Given the description of an element on the screen output the (x, y) to click on. 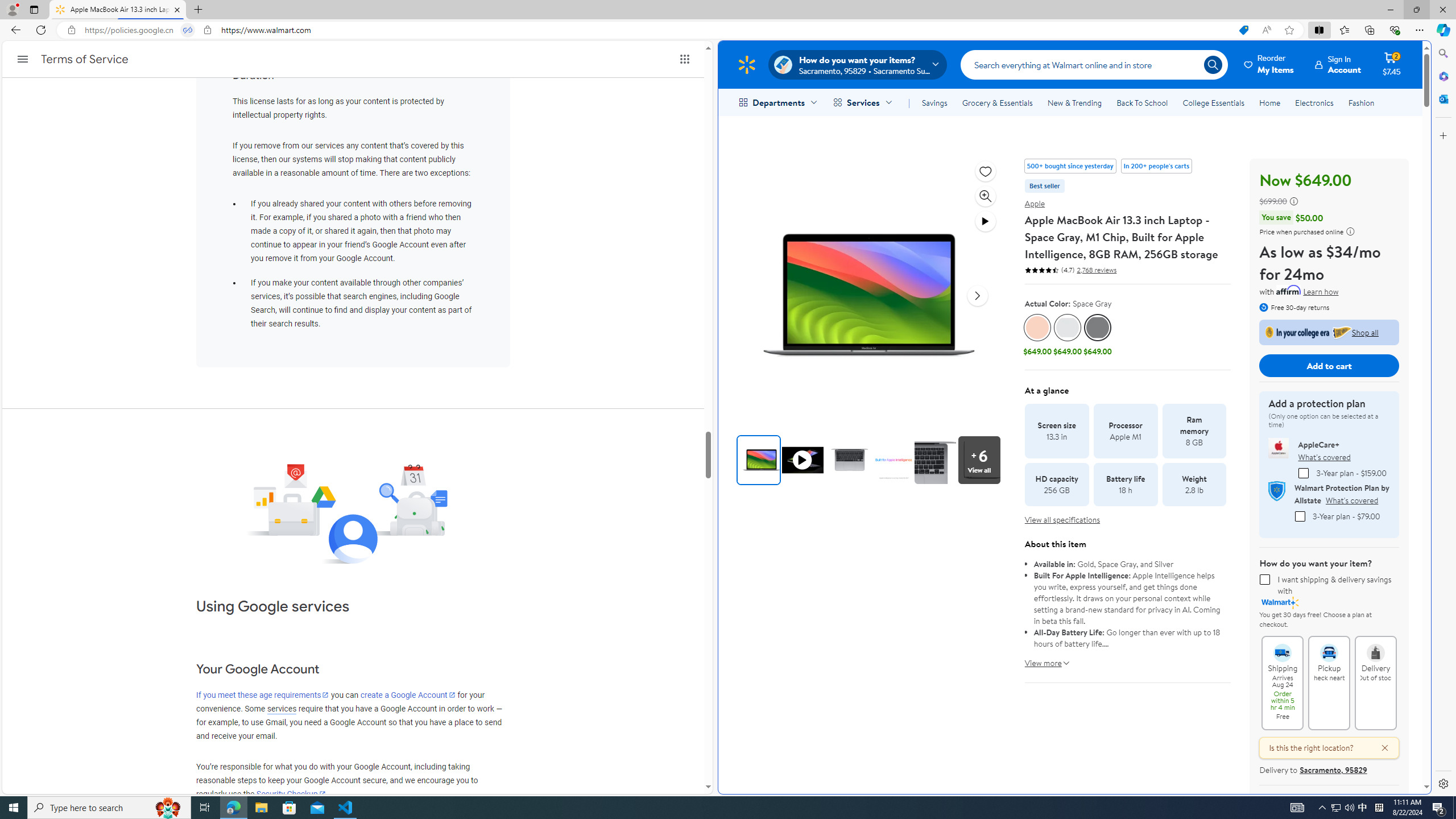
Pickup Check nearby Pickup Check nearby (1329, 682)
Grocery & Essentials (997, 102)
Search icon (1212, 64)
next media item (977, 295)
What's covered of AppleCare+ (1324, 456)
Address and search bar (658, 29)
What's covered of Walmart Protection Plan by Allstate (1351, 500)
